Given the description of an element on the screen output the (x, y) to click on. 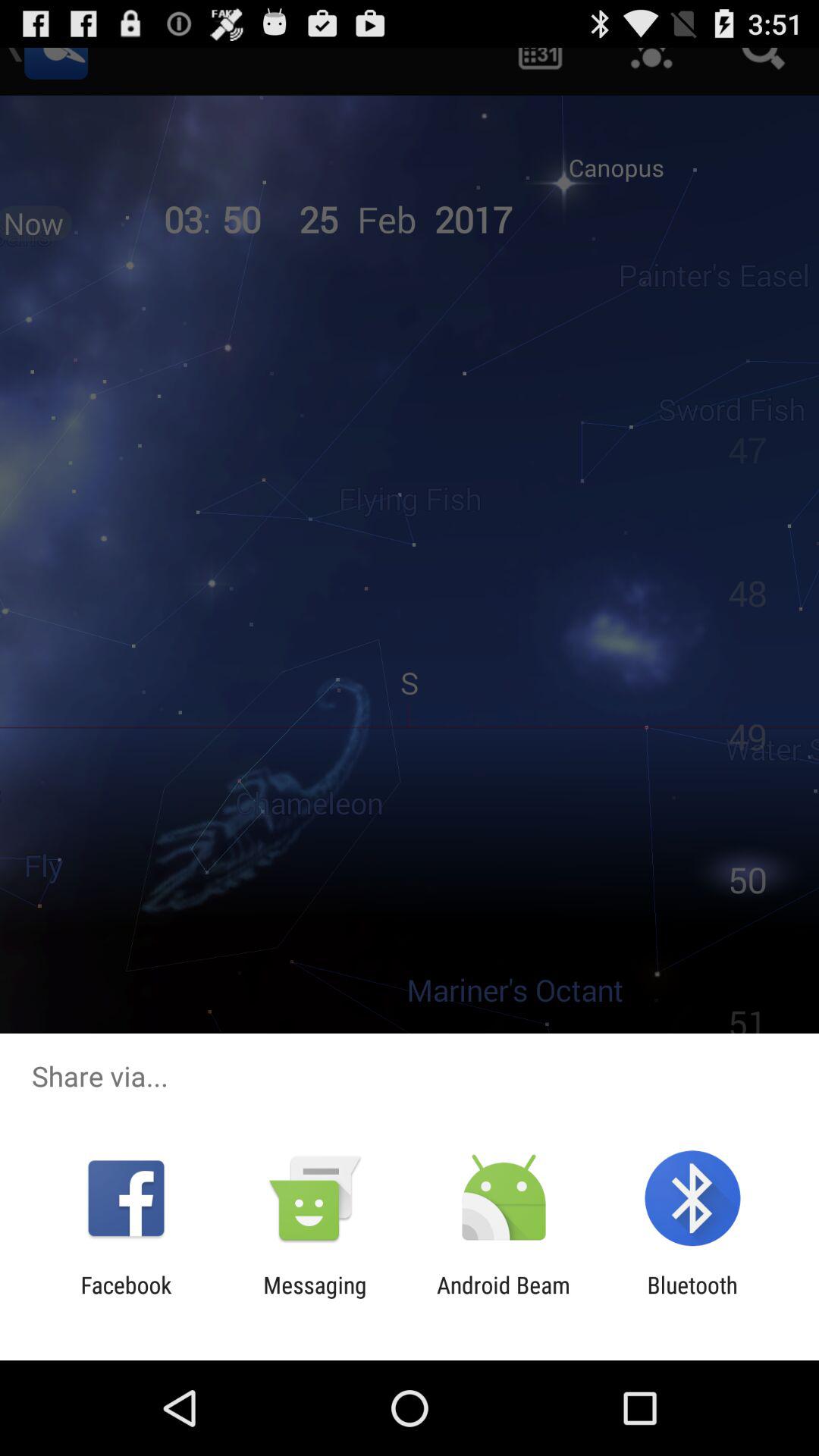
tap the icon to the right of the messaging (503, 1298)
